Given the description of an element on the screen output the (x, y) to click on. 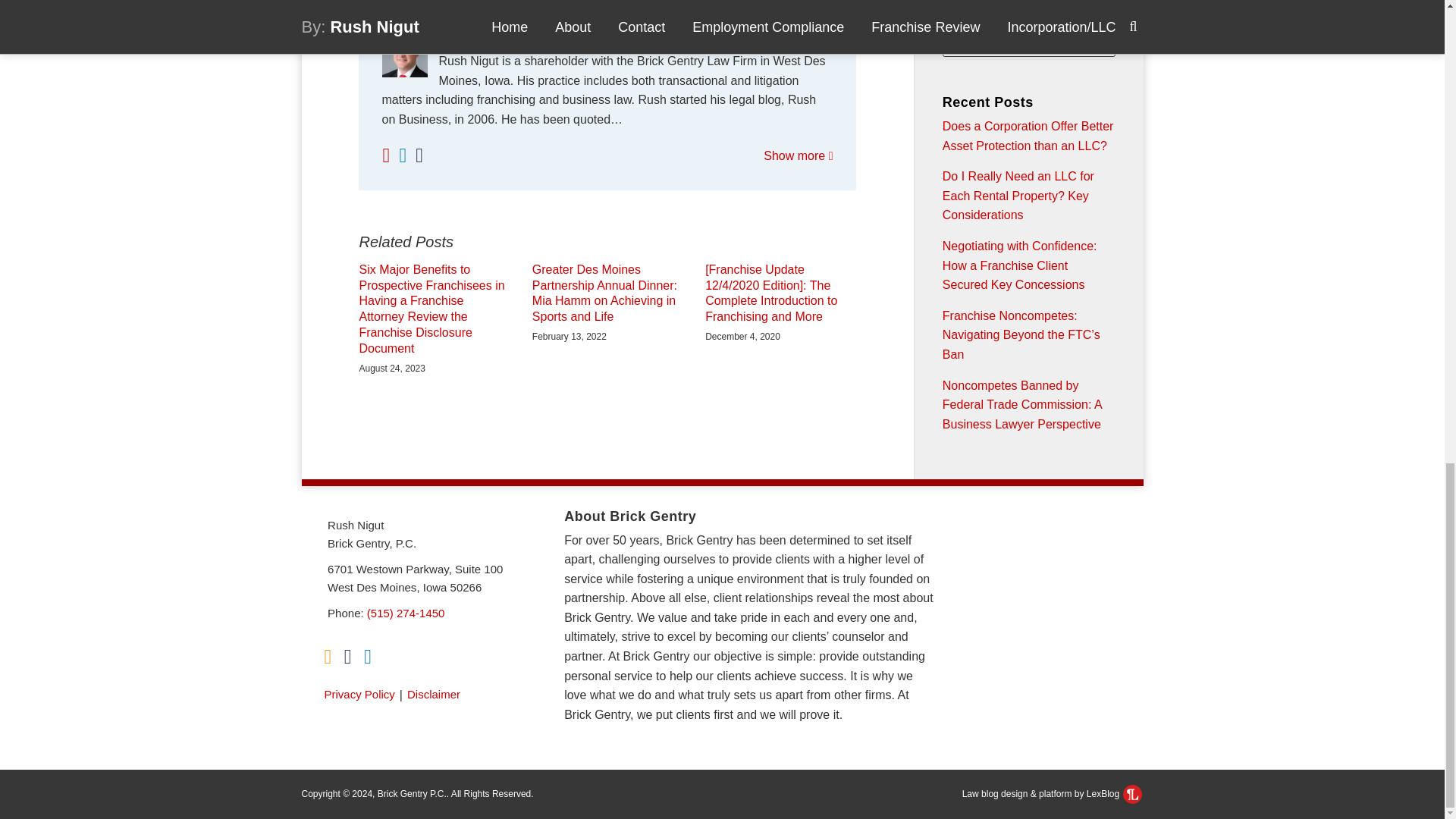
LexBlog Logo (1131, 793)
Rush Nigut (606, 41)
Show more (797, 155)
